Given the description of an element on the screen output the (x, y) to click on. 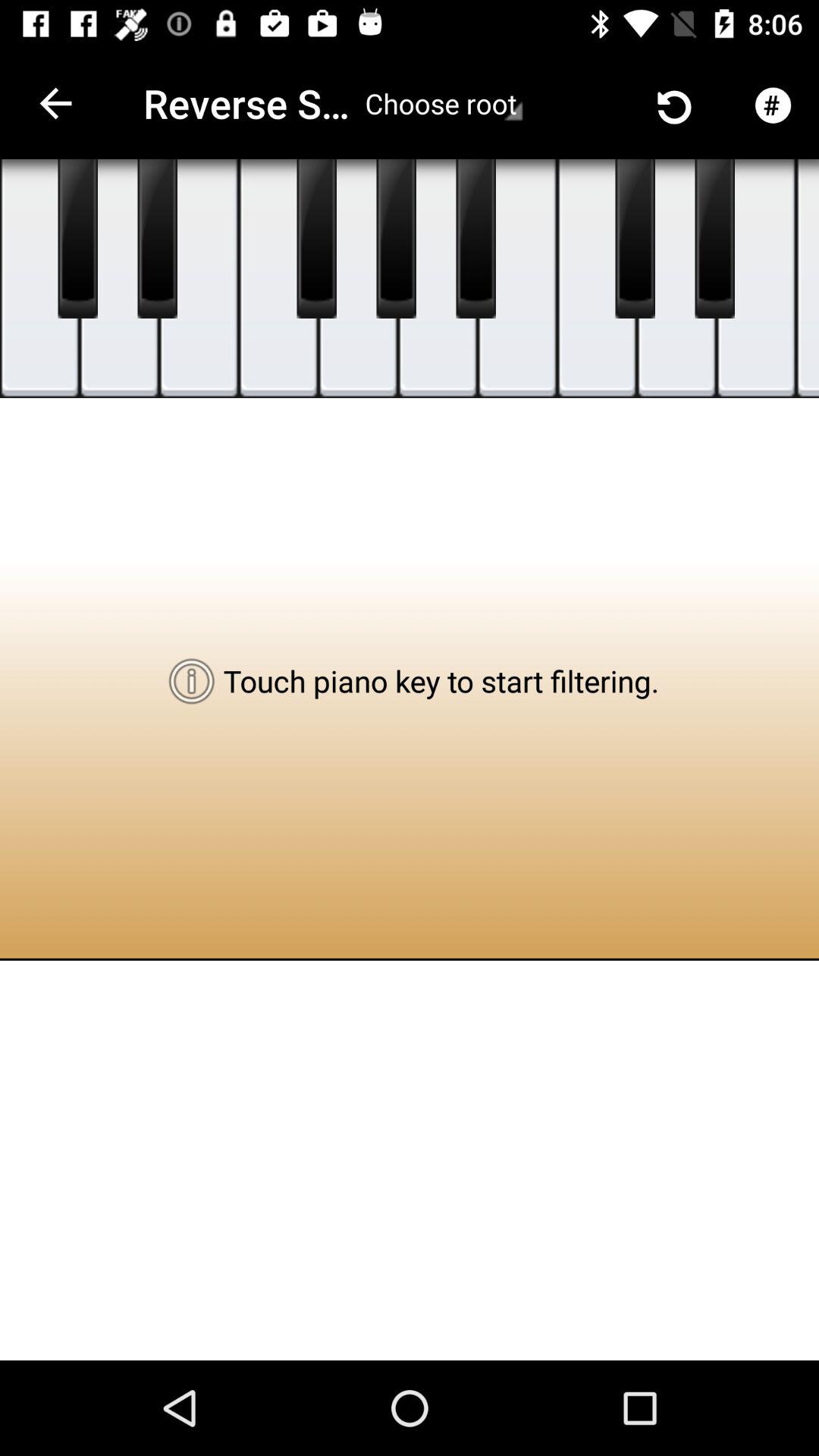
press to play (807, 278)
